Given the description of an element on the screen output the (x, y) to click on. 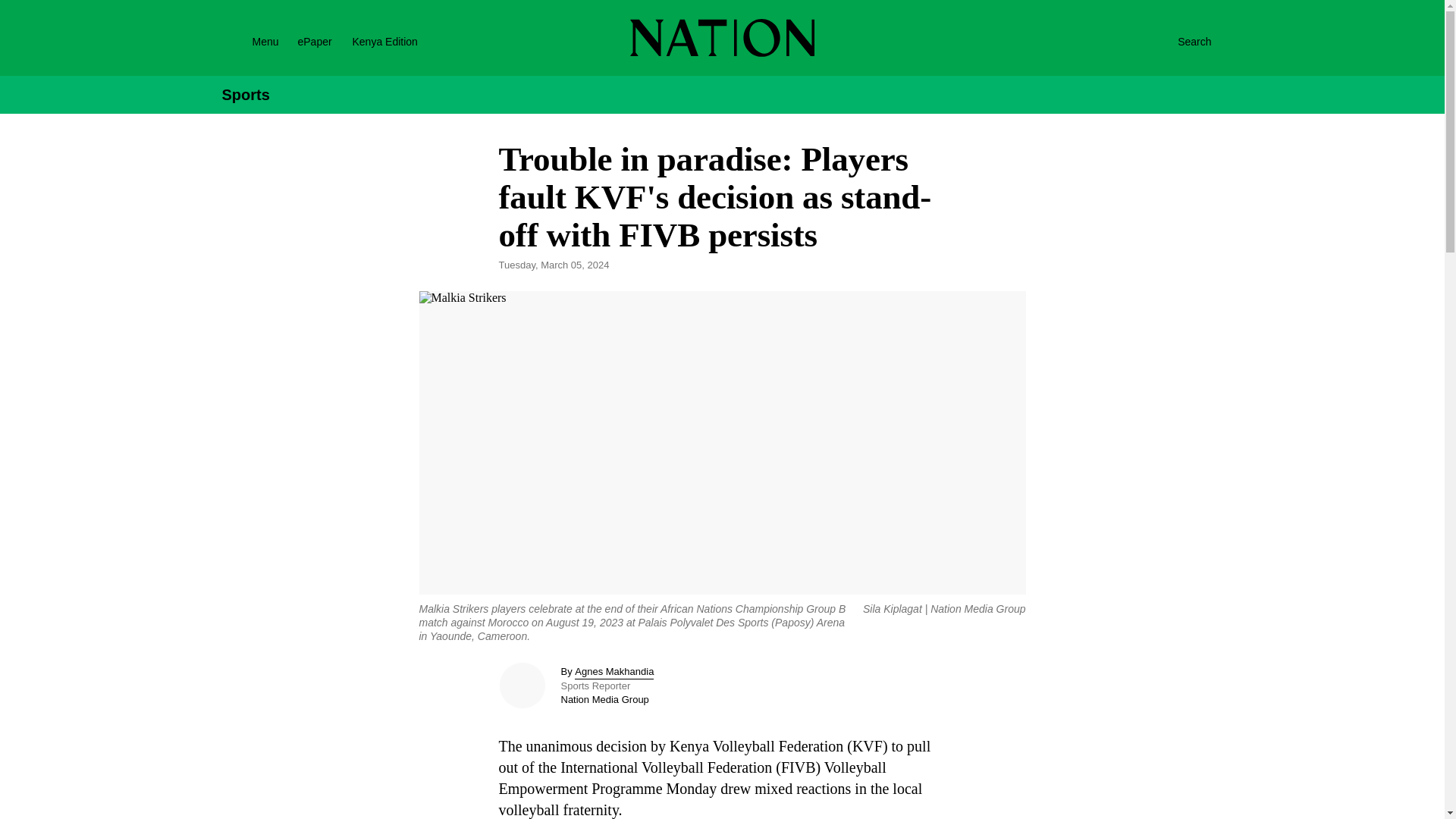
Menu (246, 41)
Sports (245, 94)
ePaper (314, 41)
Search (1178, 41)
Kenya Edition (398, 41)
